Given the description of an element on the screen output the (x, y) to click on. 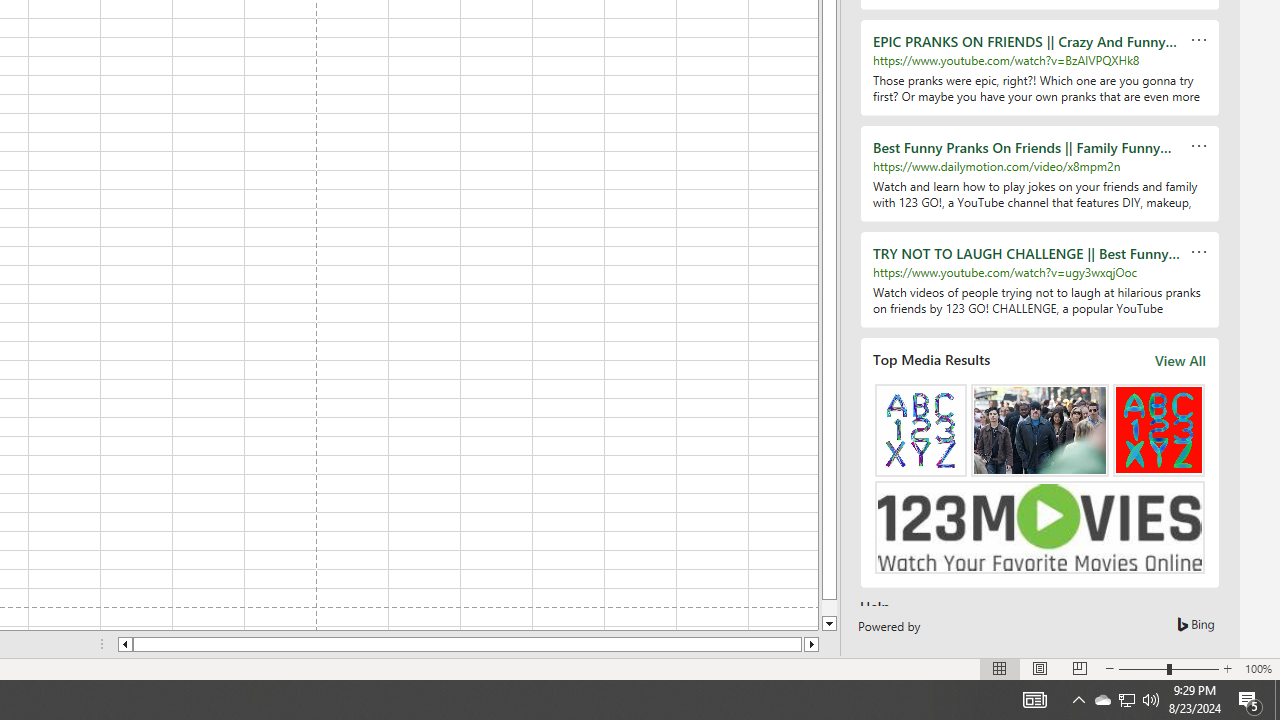
Page Break Preview (1079, 668)
Page down (829, 607)
Zoom (1168, 668)
Zoom In (1227, 668)
Class: NetUIScrollBar (468, 644)
Line down (829, 624)
Zoom Out (1142, 668)
Normal (1000, 668)
Column right (811, 644)
Column left (124, 644)
